Given the description of an element on the screen output the (x, y) to click on. 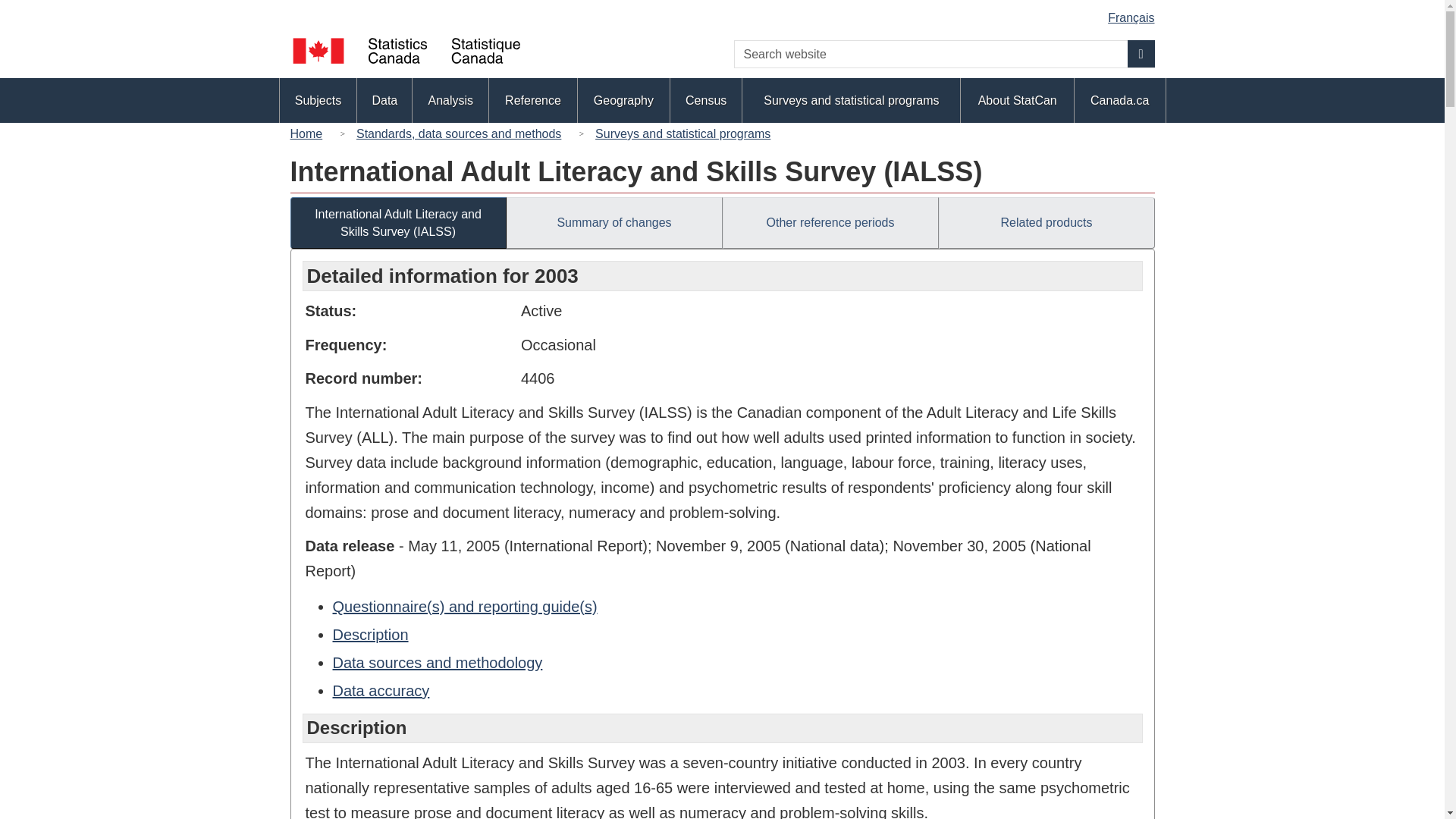
Description (369, 634)
Analysis (449, 100)
Home (309, 133)
Geography (623, 100)
Other reference periods (829, 222)
Canada.ca (1120, 100)
Data accuracy (380, 690)
Skip to main content (725, 12)
Data sources and methodology (436, 662)
Summary of changes (614, 222)
Standards, data sources and methods (459, 133)
Search (1140, 53)
Subjects (317, 100)
Related products (1046, 222)
Surveys and statistical programs (850, 100)
